Given the description of an element on the screen output the (x, y) to click on. 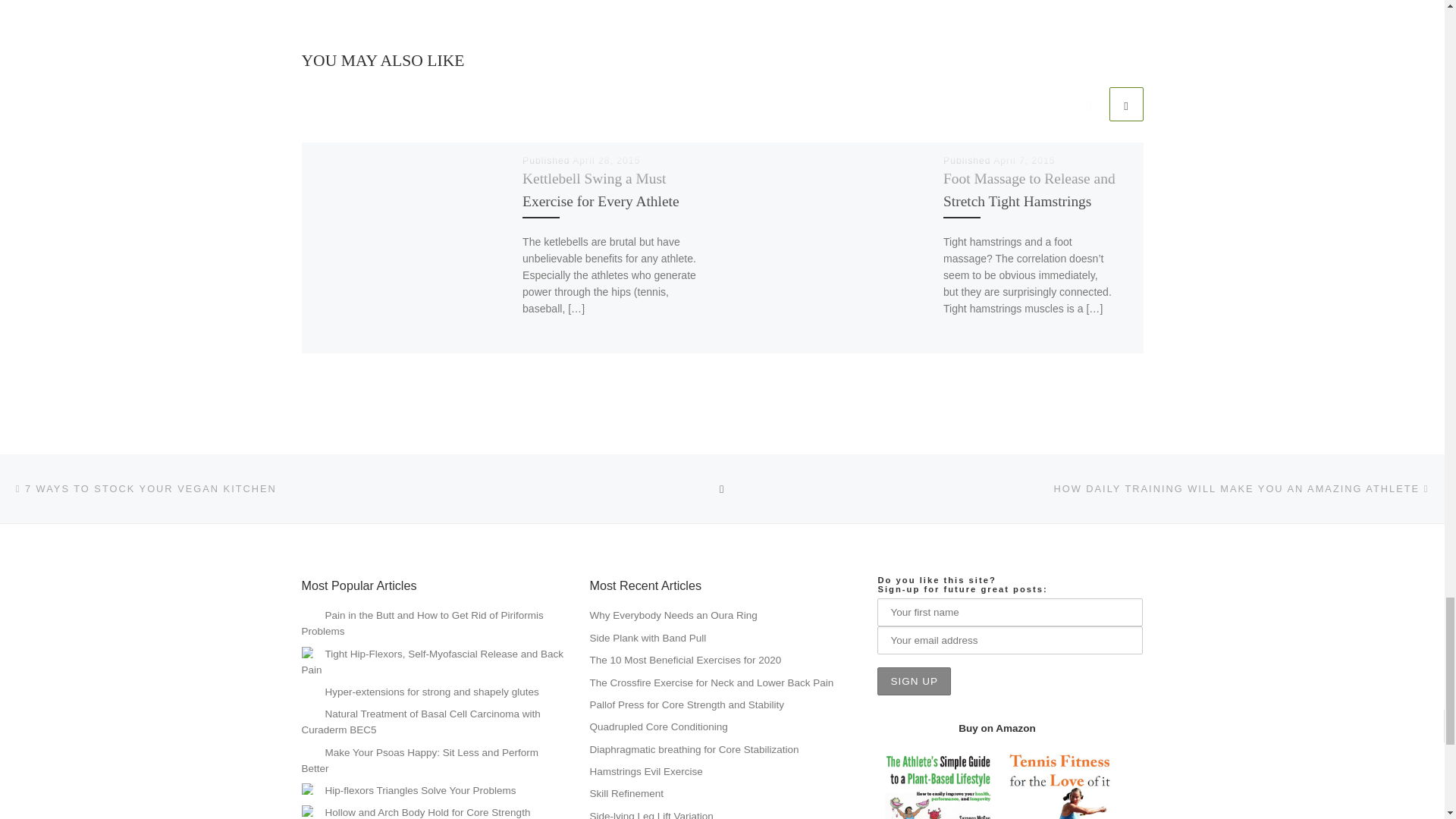
Next related articles (1125, 103)
Sign up (913, 681)
Previous related articles (1088, 103)
